Given the description of an element on the screen output the (x, y) to click on. 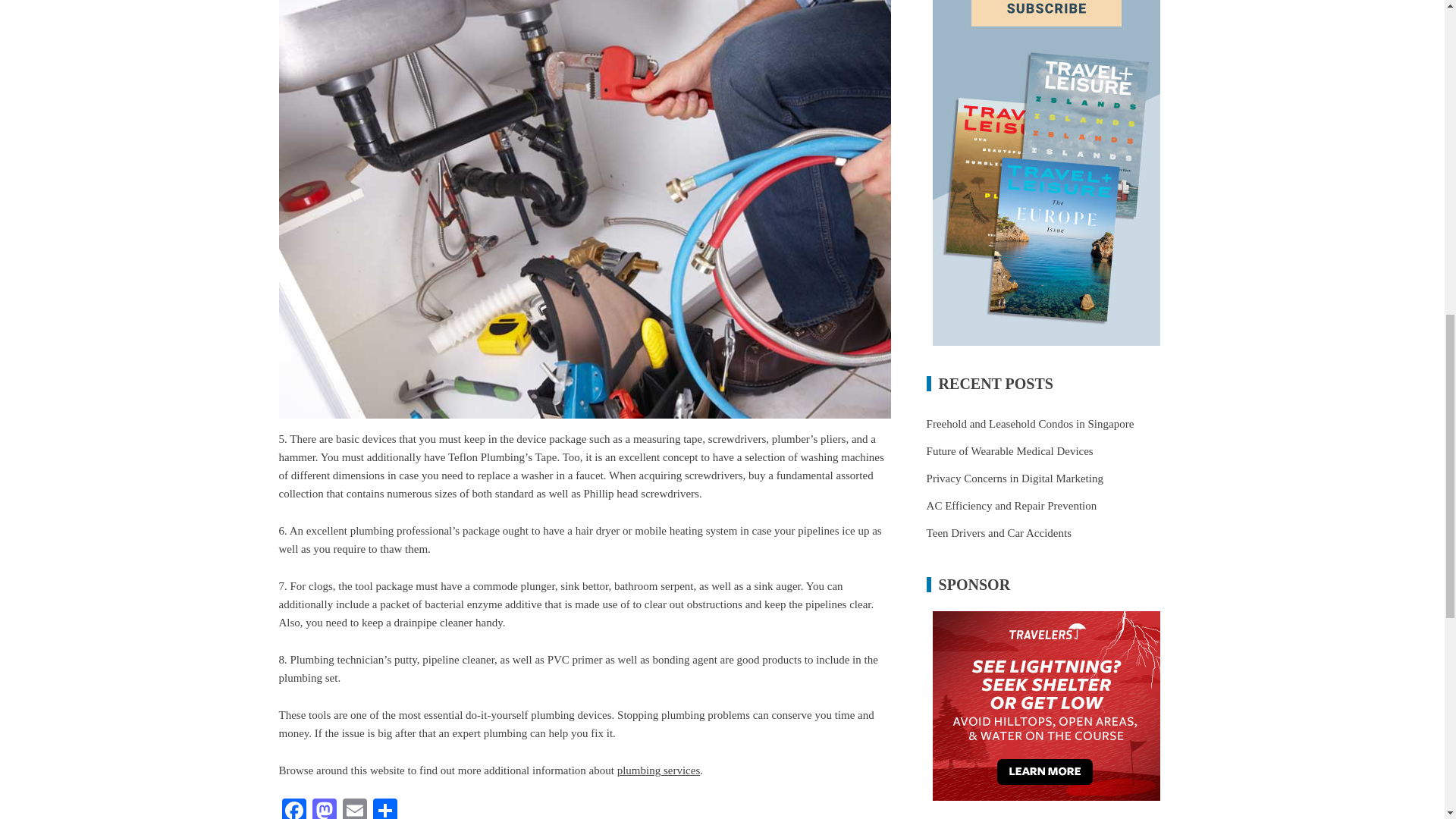
Email (354, 808)
Facebook (293, 808)
Mastodon (323, 808)
AC Efficiency and Repair Prevention (1011, 505)
Freehold and Leasehold Condos in Singapore (1030, 423)
Future of Wearable Medical Devices (1009, 451)
Email (354, 808)
Mastodon (323, 808)
Facebook (293, 808)
Privacy Concerns in Digital Marketing (1014, 478)
plumbing services (658, 770)
Teen Drivers and Car Accidents (998, 532)
